Given the description of an element on the screen output the (x, y) to click on. 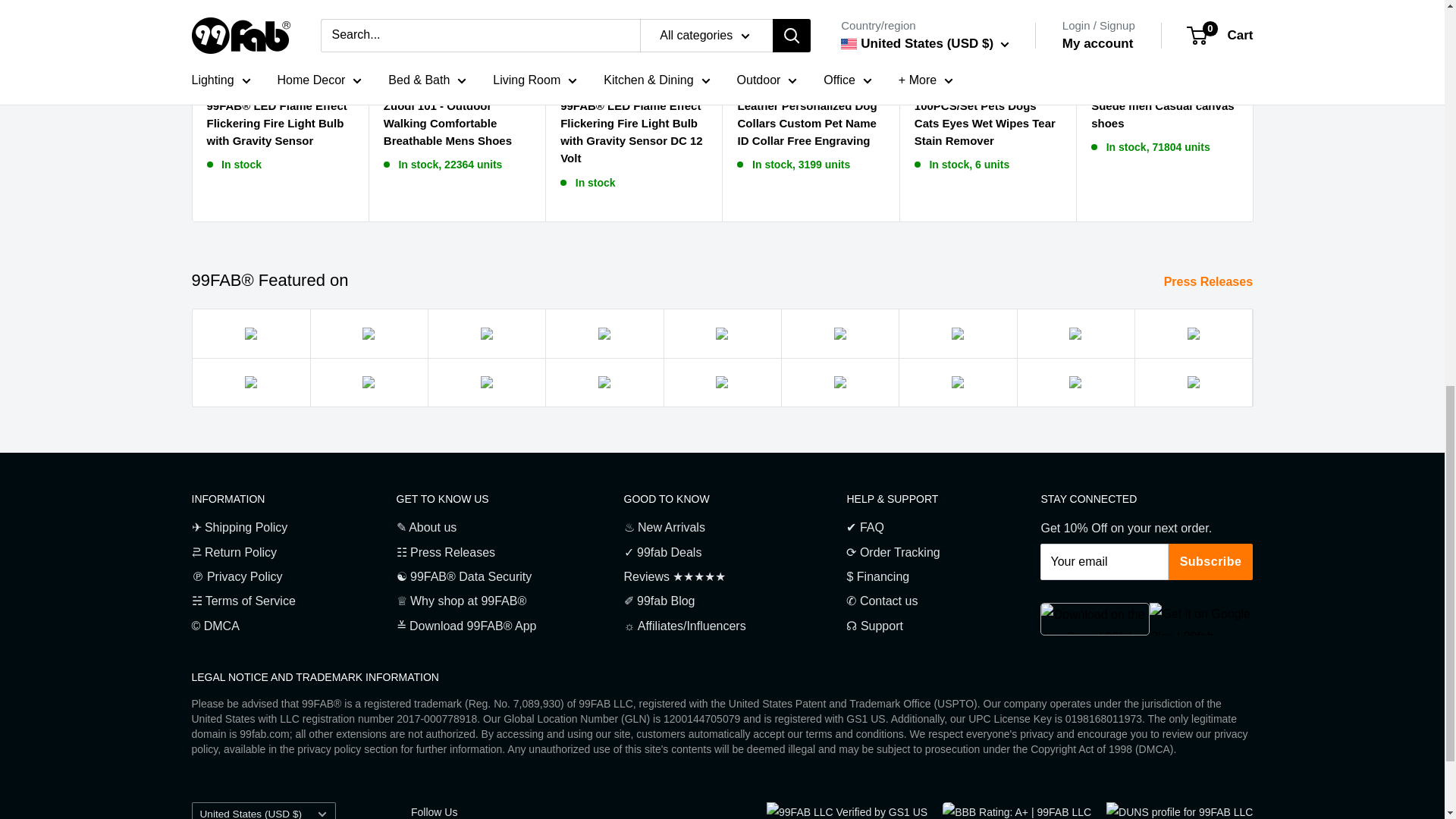
Get it on Google Play (1201, 618)
99FAB LLC Verified by GS1 US (847, 810)
Download on the App Store (1095, 618)
DUNS profile for 99FAB LLC (1179, 810)
